Given the description of an element on the screen output the (x, y) to click on. 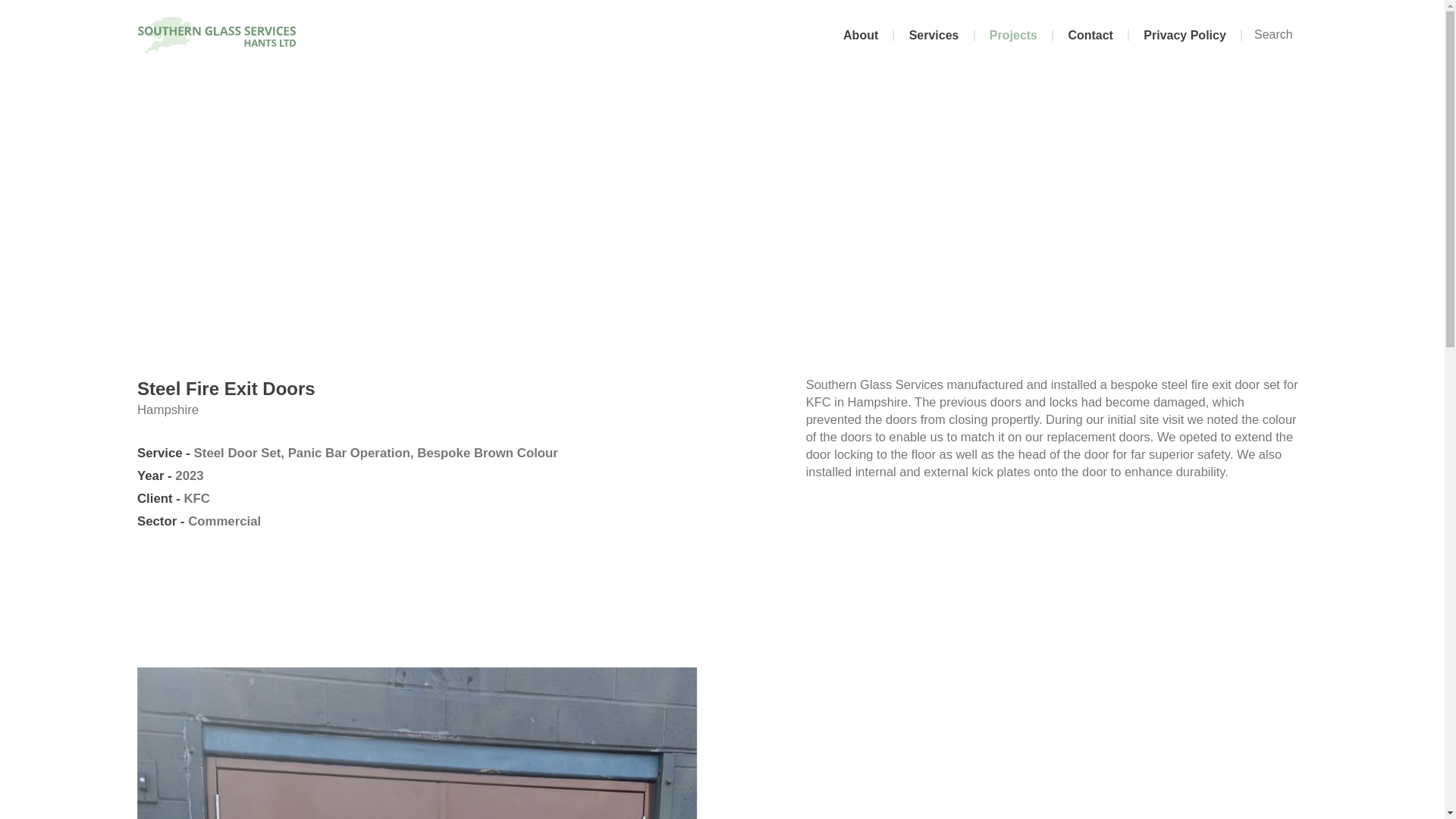
Projects (1014, 34)
Services (933, 34)
Contact (1090, 34)
About (861, 34)
Privacy Policy (1185, 34)
